Given the description of an element on the screen output the (x, y) to click on. 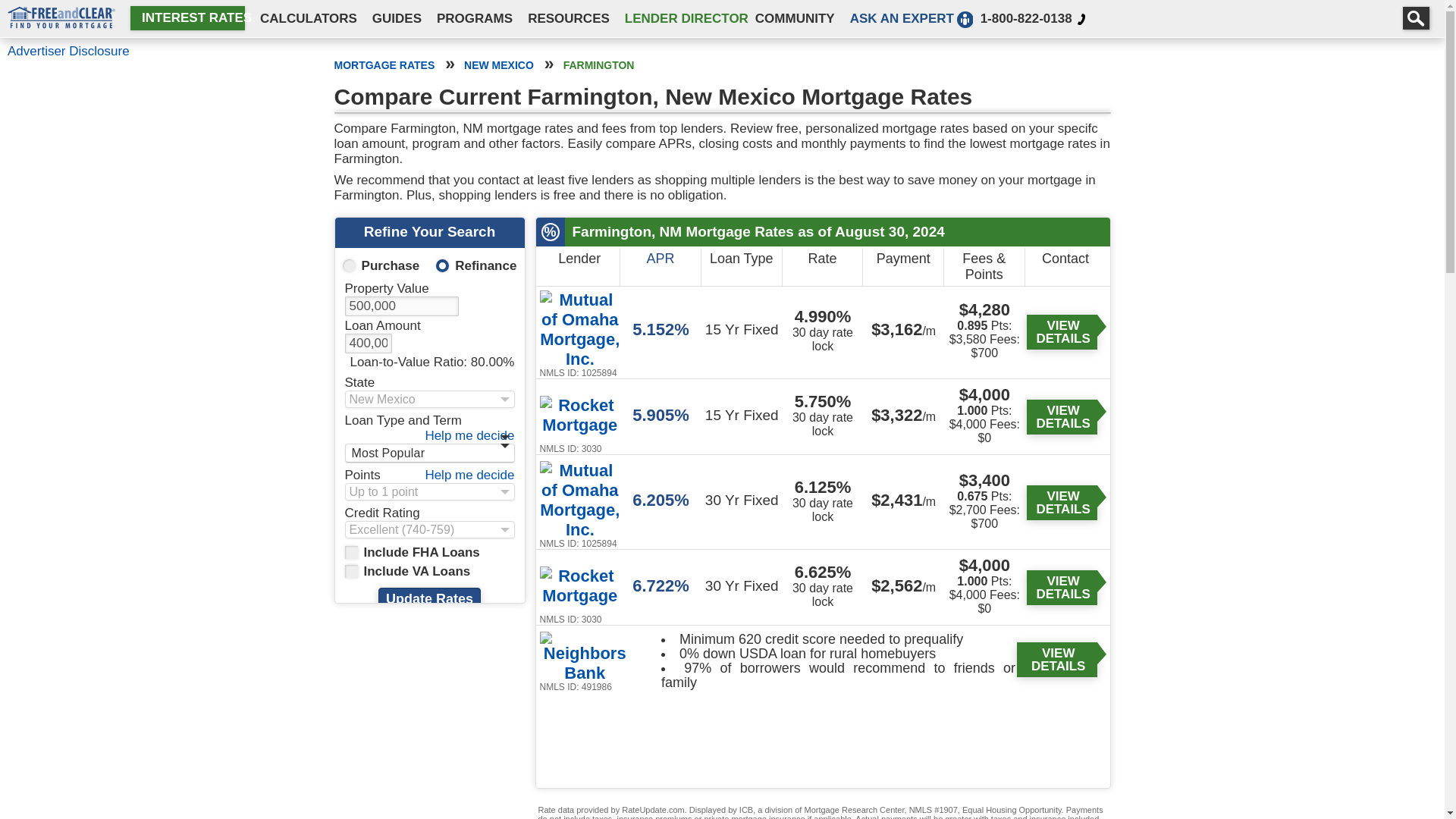
400,000 (367, 342)
500,000 (400, 306)
Update Rates (429, 599)
